Given the description of an element on the screen output the (x, y) to click on. 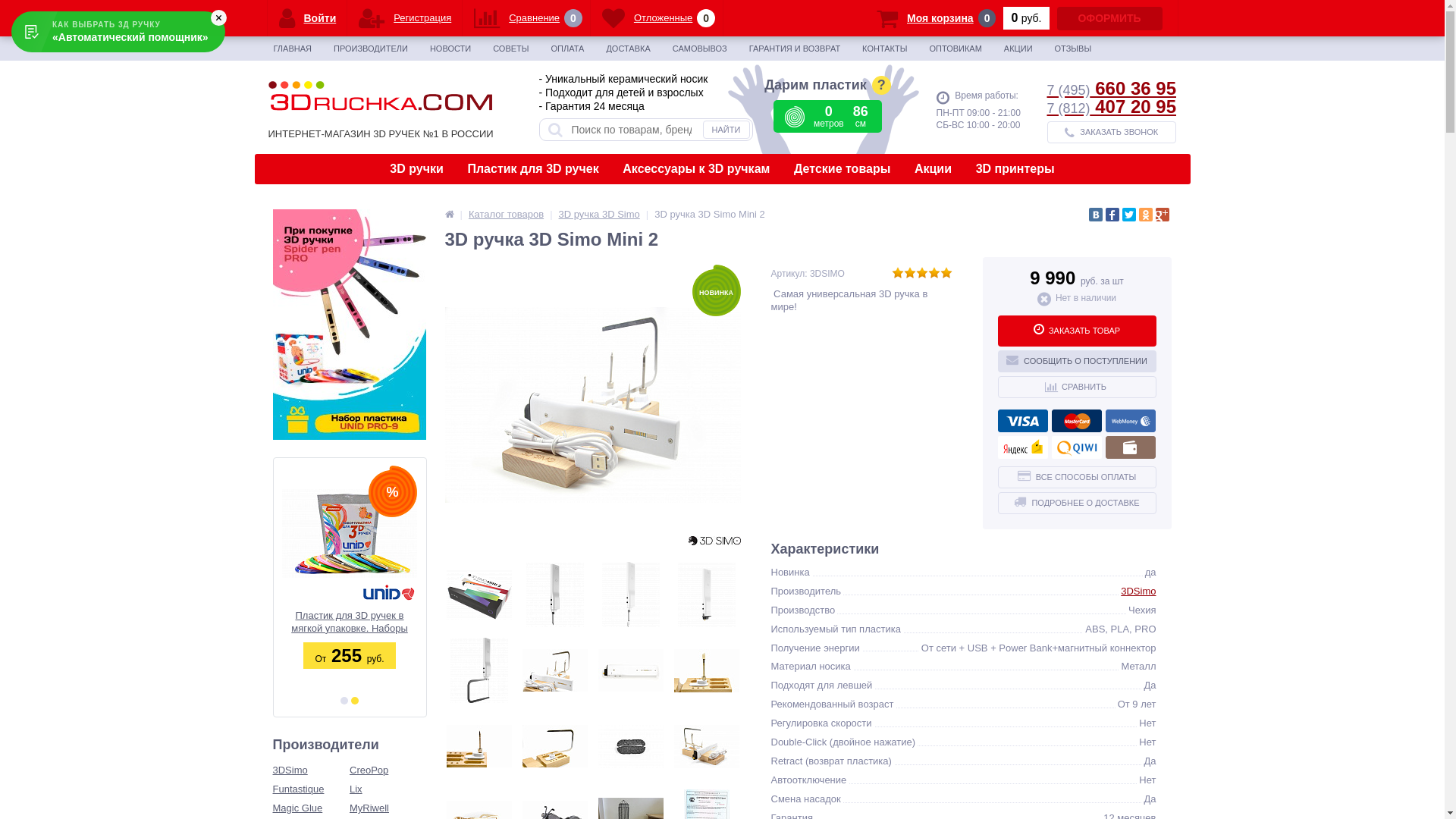
3DSimo Element type: text (311, 770)
Magic Glue Element type: text (311, 808)
VISA Element type: hover (1022, 420)
Google Plus Element type: hover (1162, 214)
Facebook Element type: hover (1112, 214)
Twitter Element type: hover (1128, 214)
7 (812) 407 20 95 Element type: text (1110, 106)
QIWI Element type: hover (1076, 447)
% Element type: text (349, 532)
1 Element type: hover (344, 700)
3DSimo Element type: text (1137, 590)
CreoPop Element type: text (387, 770)
Funtastique Element type: text (311, 789)
Lix Element type: text (387, 789)
2 Element type: hover (354, 700)
MasterCard Element type: hover (1076, 420)
MyRiwell Element type: text (387, 808)
7 (495) 660 36 95 Element type: text (1110, 88)
WebMoney Element type: hover (1130, 420)
